Given the description of an element on the screen output the (x, y) to click on. 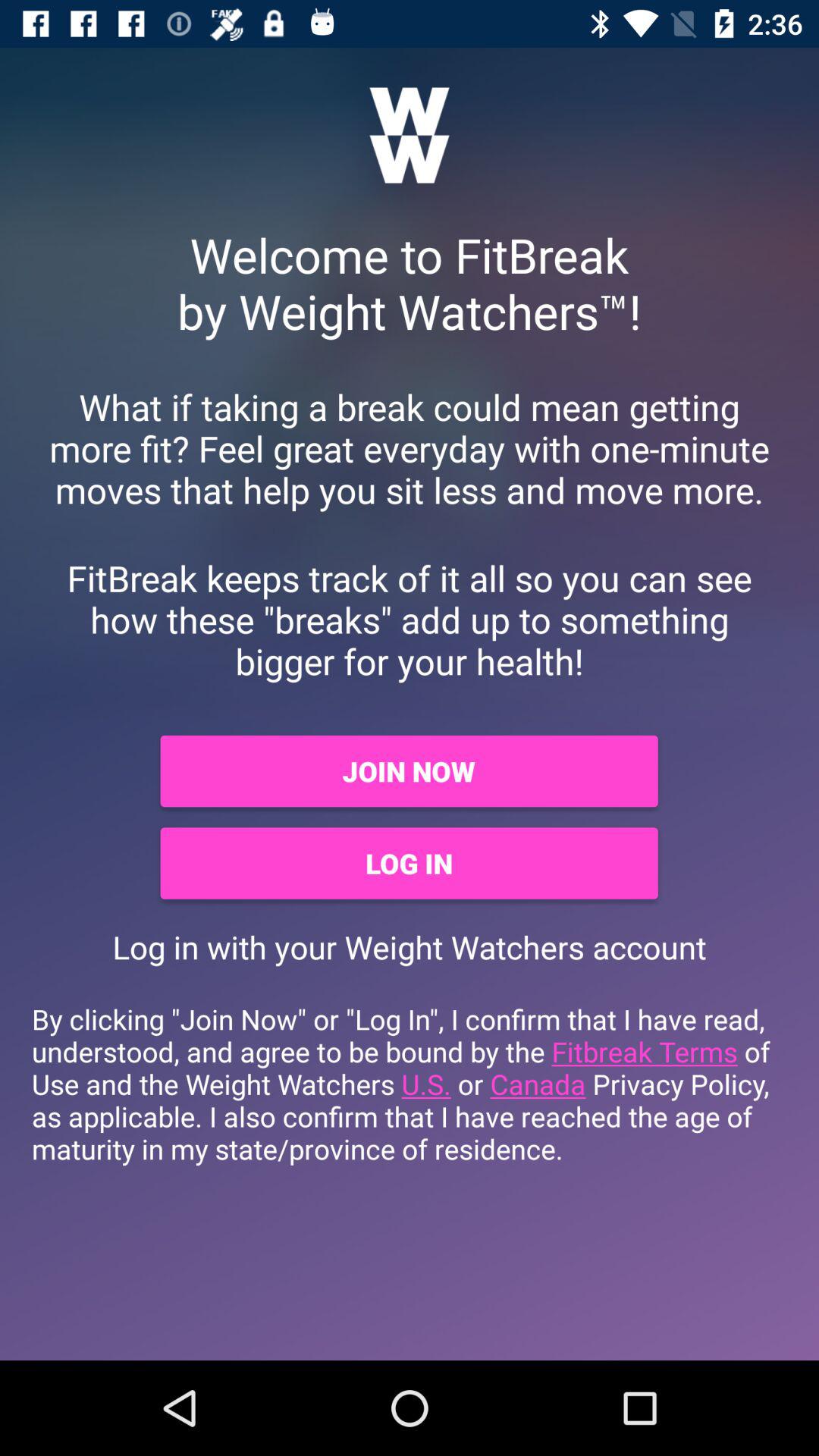
choose the by clicking join (409, 1083)
